Given the description of an element on the screen output the (x, y) to click on. 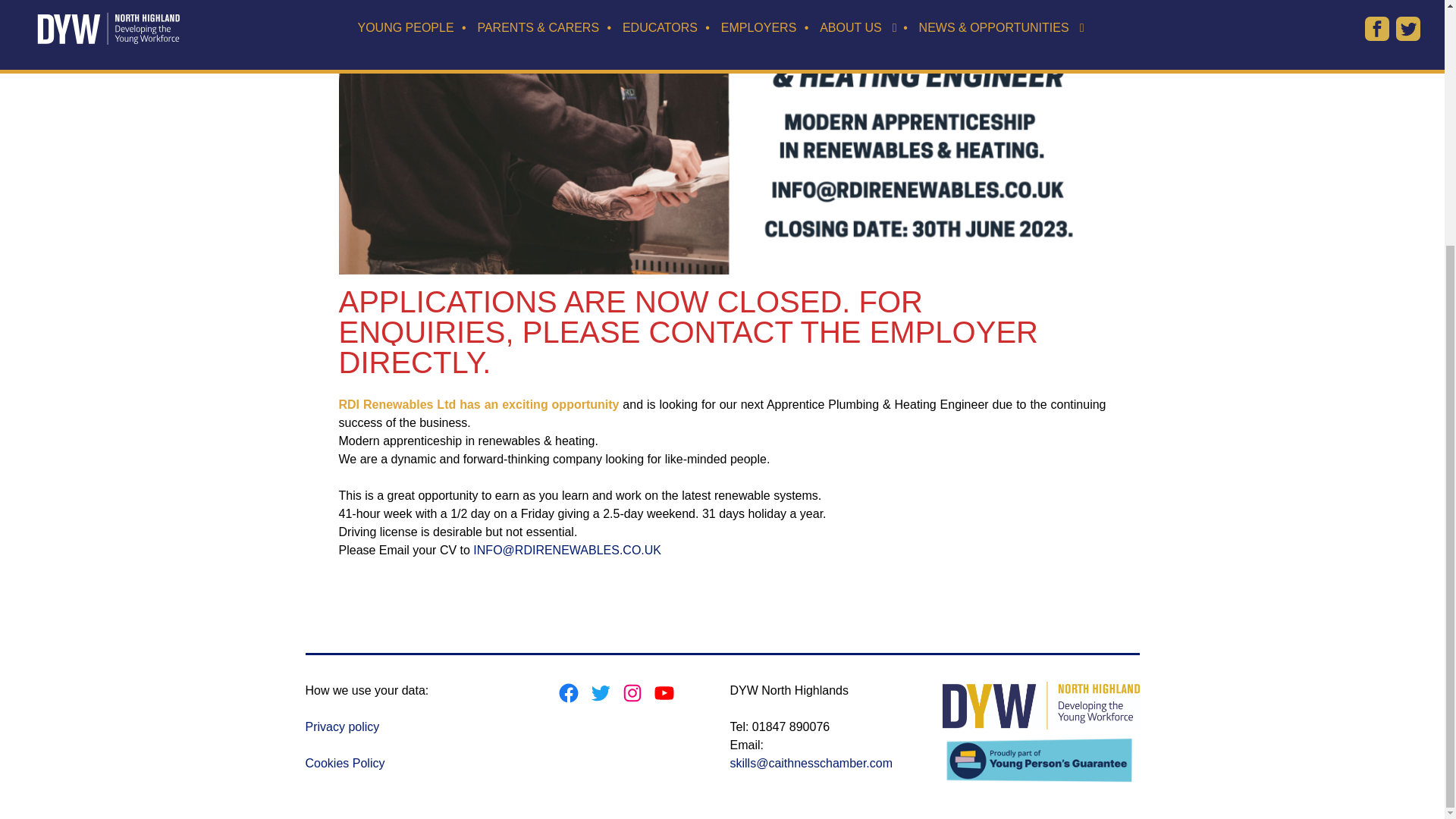
Cookies Policy (344, 762)
Privacy policy (341, 726)
